Given the description of an element on the screen output the (x, y) to click on. 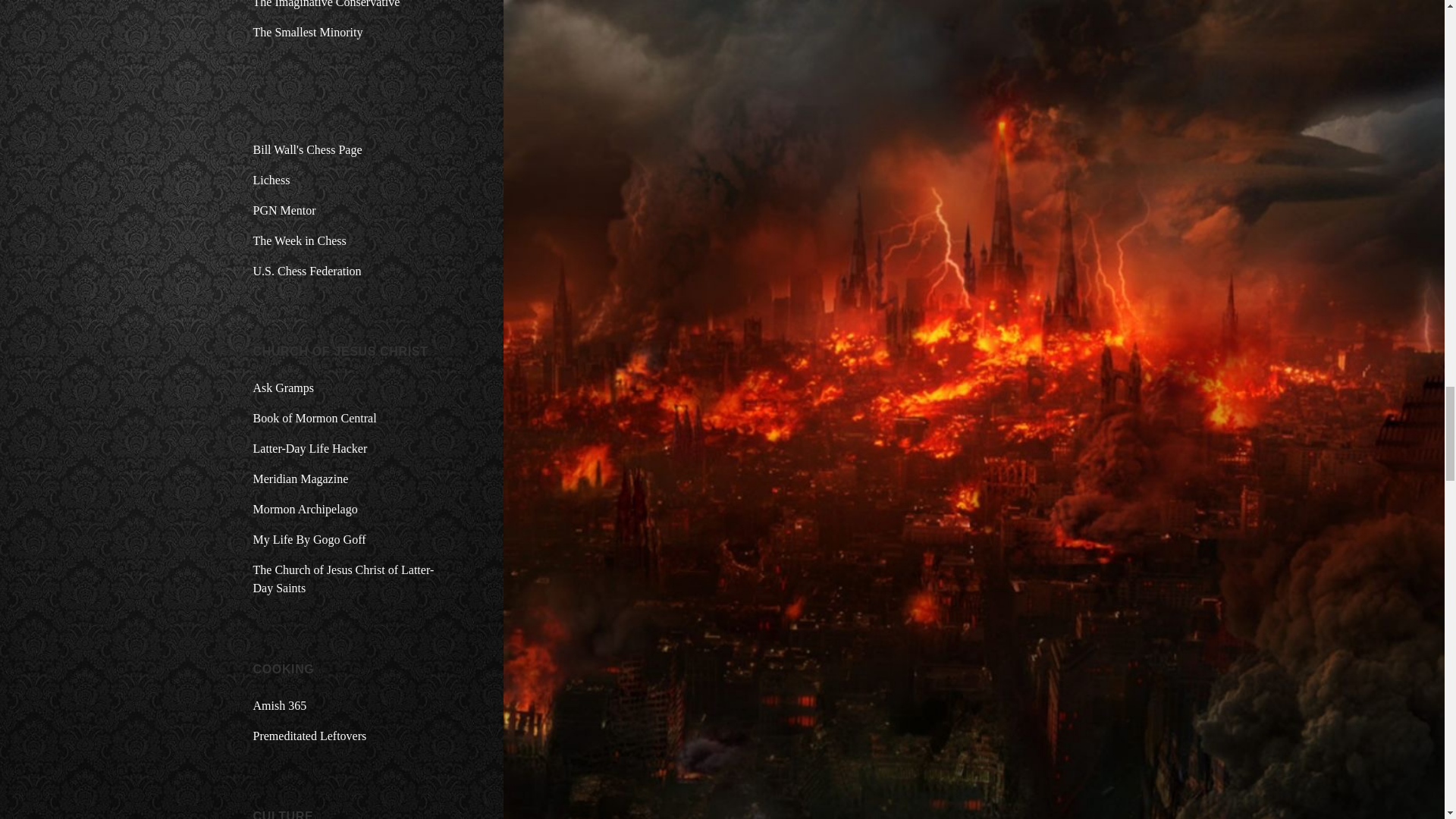
 More on chess than any website in the world.  (307, 149)
Download PGN Files (284, 210)
Gateway to the Bloggernacle (305, 508)
